Given the description of an element on the screen output the (x, y) to click on. 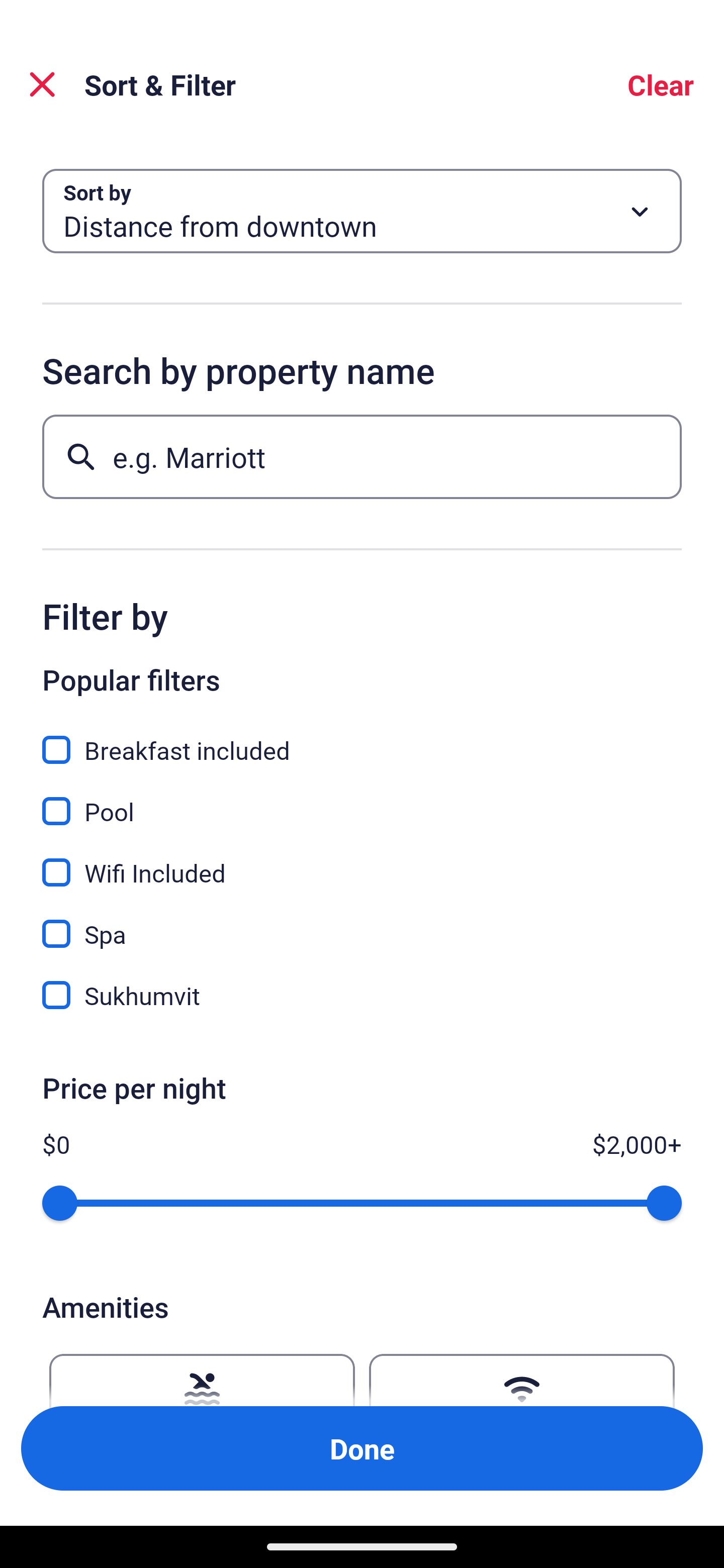
Close Sort and Filter (42, 84)
Clear (660, 84)
Sort by Button Distance from downtown (361, 211)
e.g. Marriott Button (361, 455)
Breakfast included, Breakfast included (361, 738)
Pool, Pool (361, 800)
Wifi Included, Wifi Included (361, 861)
Spa, Spa (361, 922)
Sukhumvit, Sukhumvit (361, 995)
Apply and close Sort and Filter Done (361, 1448)
